Given the description of an element on the screen output the (x, y) to click on. 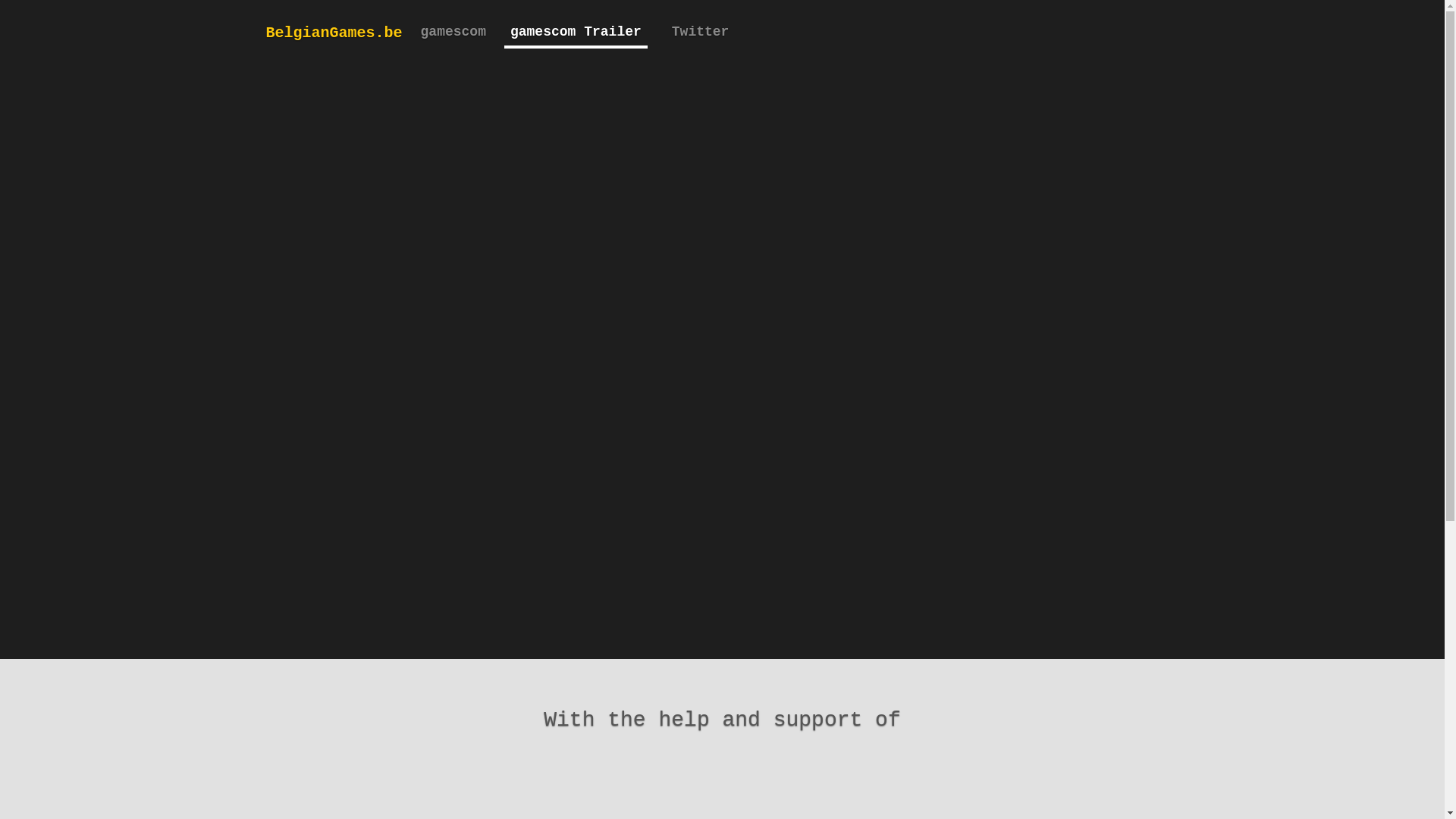
gamescom Element type: text (453, 32)
YouTube video player Element type: hover (715, 347)
BelgianGames.be Element type: text (333, 33)
gamescom Trailer Element type: text (575, 32)
Twitter Element type: text (697, 32)
